Given the description of an element on the screen output the (x, y) to click on. 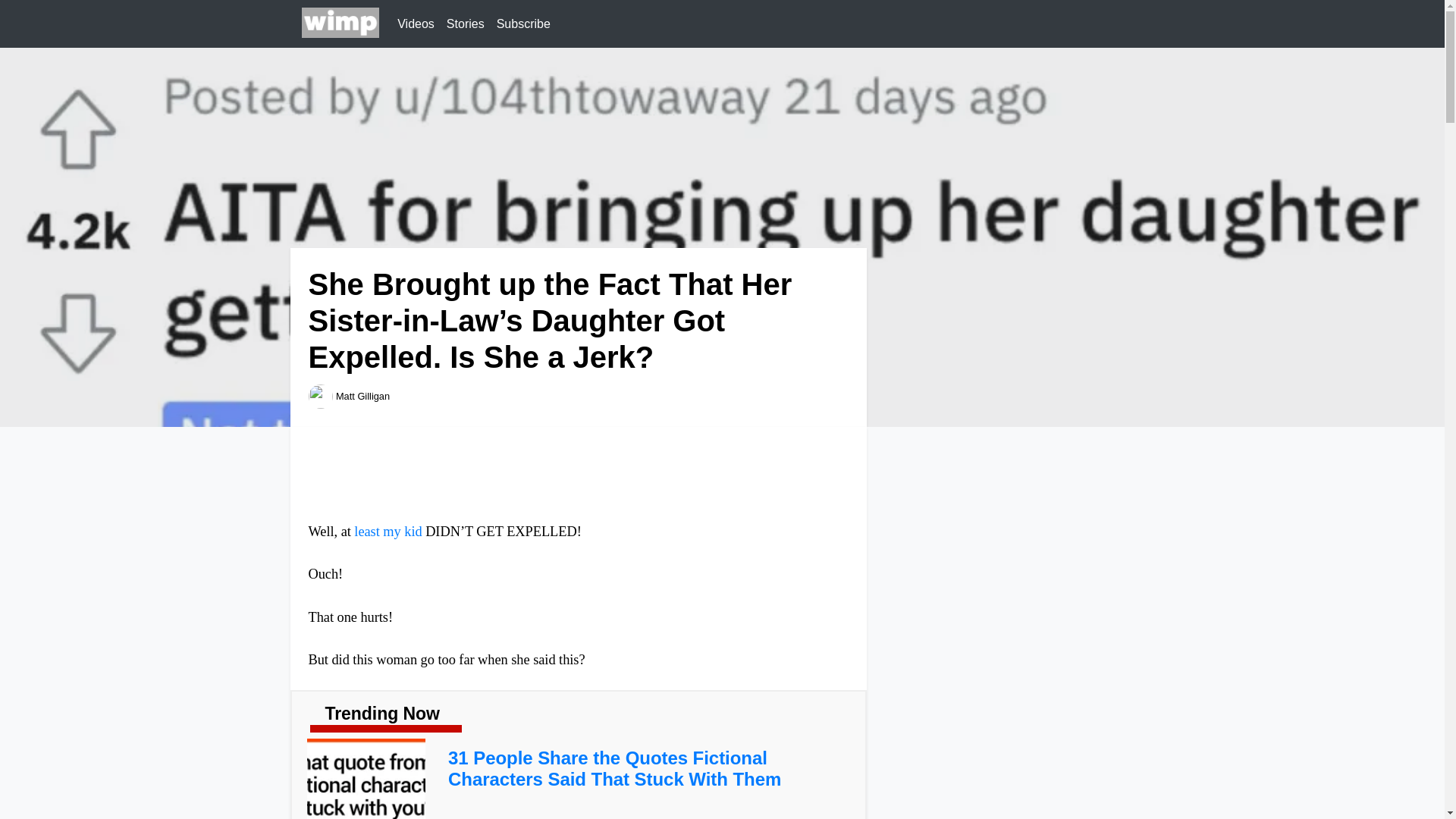
Subscribe (523, 24)
Posts by Matt Gilligan (363, 396)
least my kid (387, 531)
Stories (465, 24)
Wimp (340, 23)
Matt Gilligan (363, 396)
Videos (416, 24)
